Given the description of an element on the screen output the (x, y) to click on. 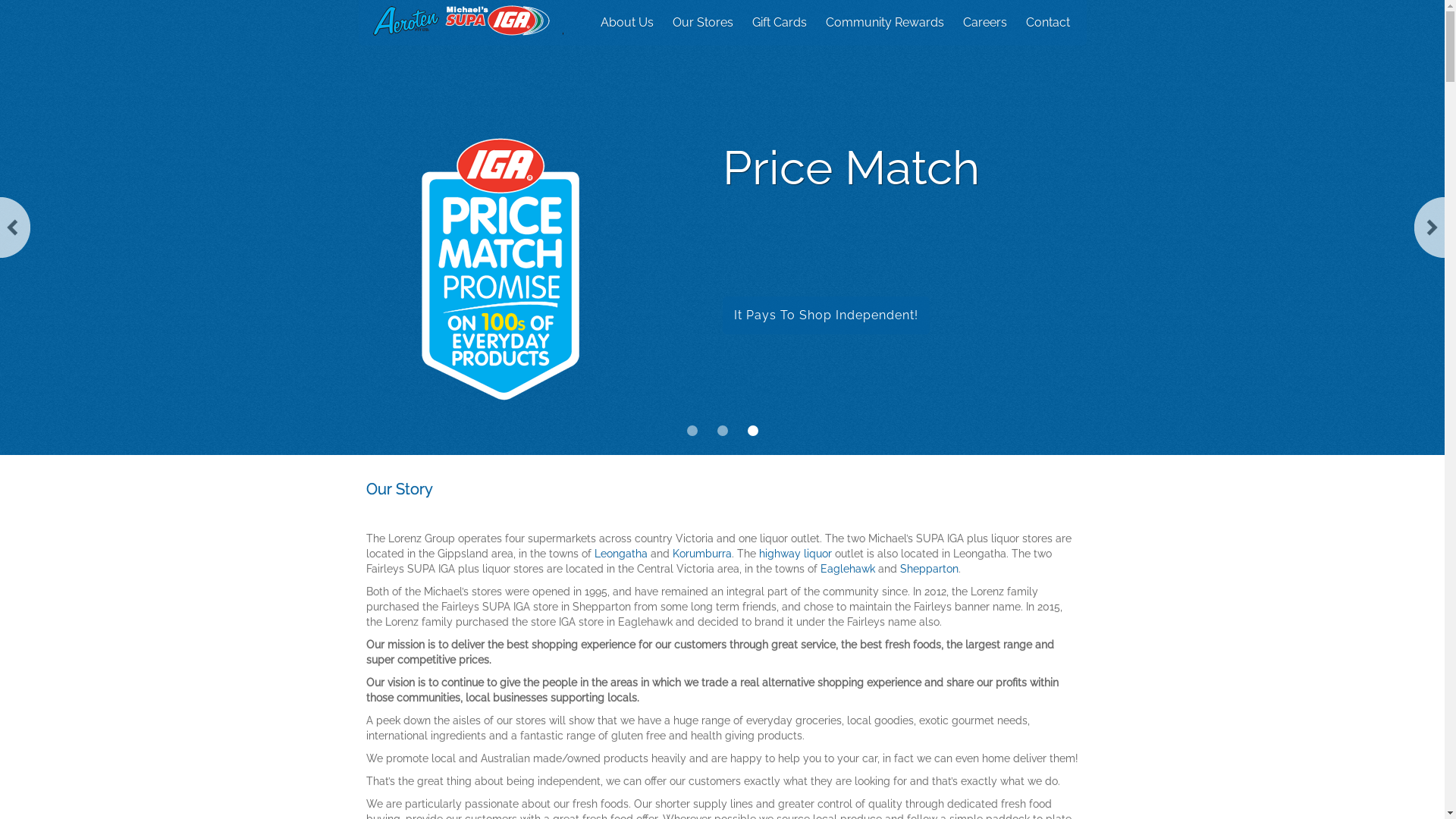
About Us Element type: text (627, 22)
Leongatha Element type: text (620, 553)
Careers Element type: text (984, 22)
Eaglehawk Element type: text (847, 568)
Learn More Element type: text (867, 315)
Contact Element type: text (1046, 22)
highway liquor Element type: text (794, 553)
Our Stores Element type: text (702, 22)
Gift Cards Element type: text (779, 22)
Community Rewards Element type: text (883, 22)
Michaels IGA Group Element type: hover (463, 20)
Shepparton Element type: text (928, 568)
Korumburra Element type: text (701, 553)
